Given the description of an element on the screen output the (x, y) to click on. 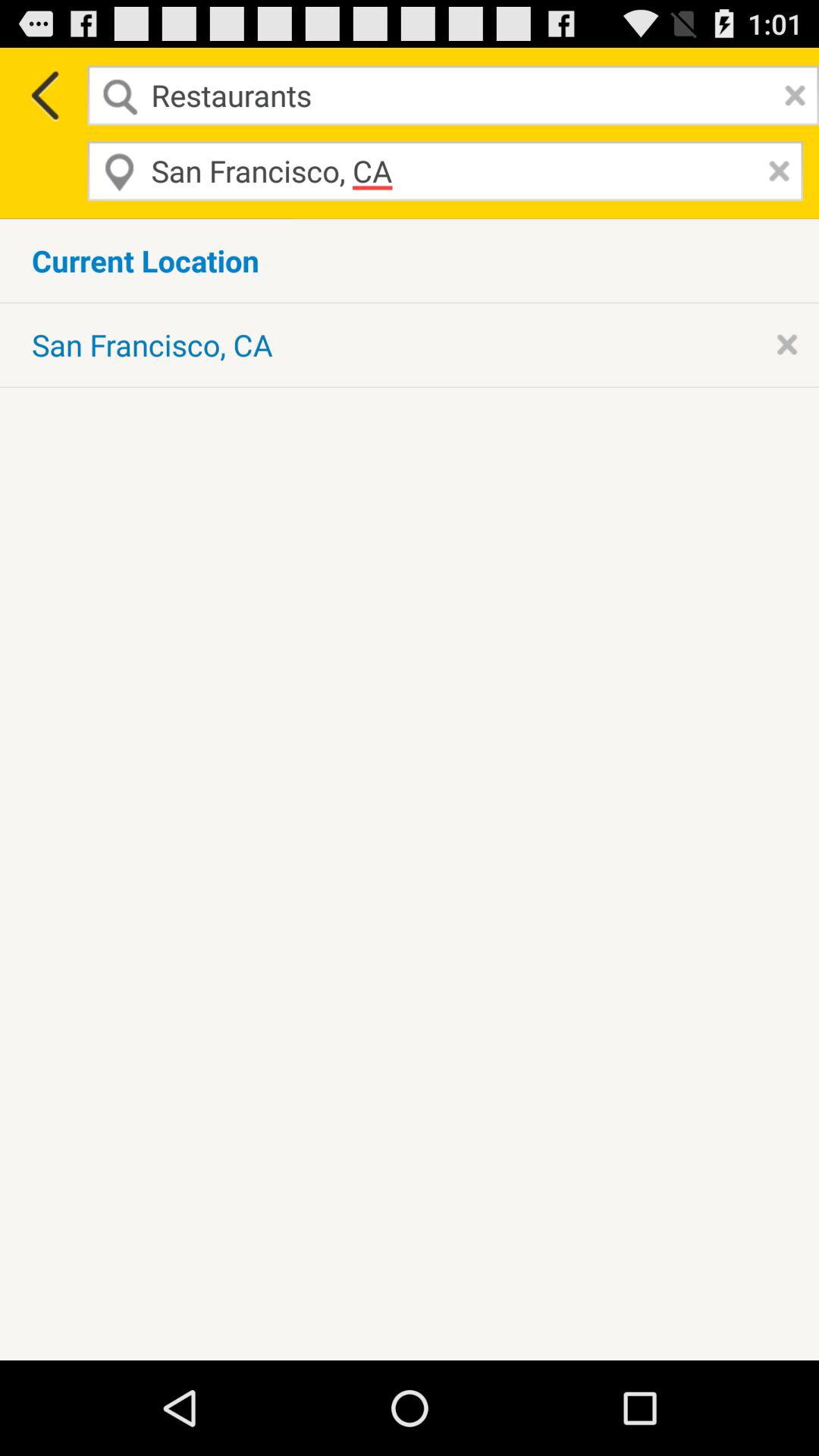
delete location (775, 171)
